Given the description of an element on the screen output the (x, y) to click on. 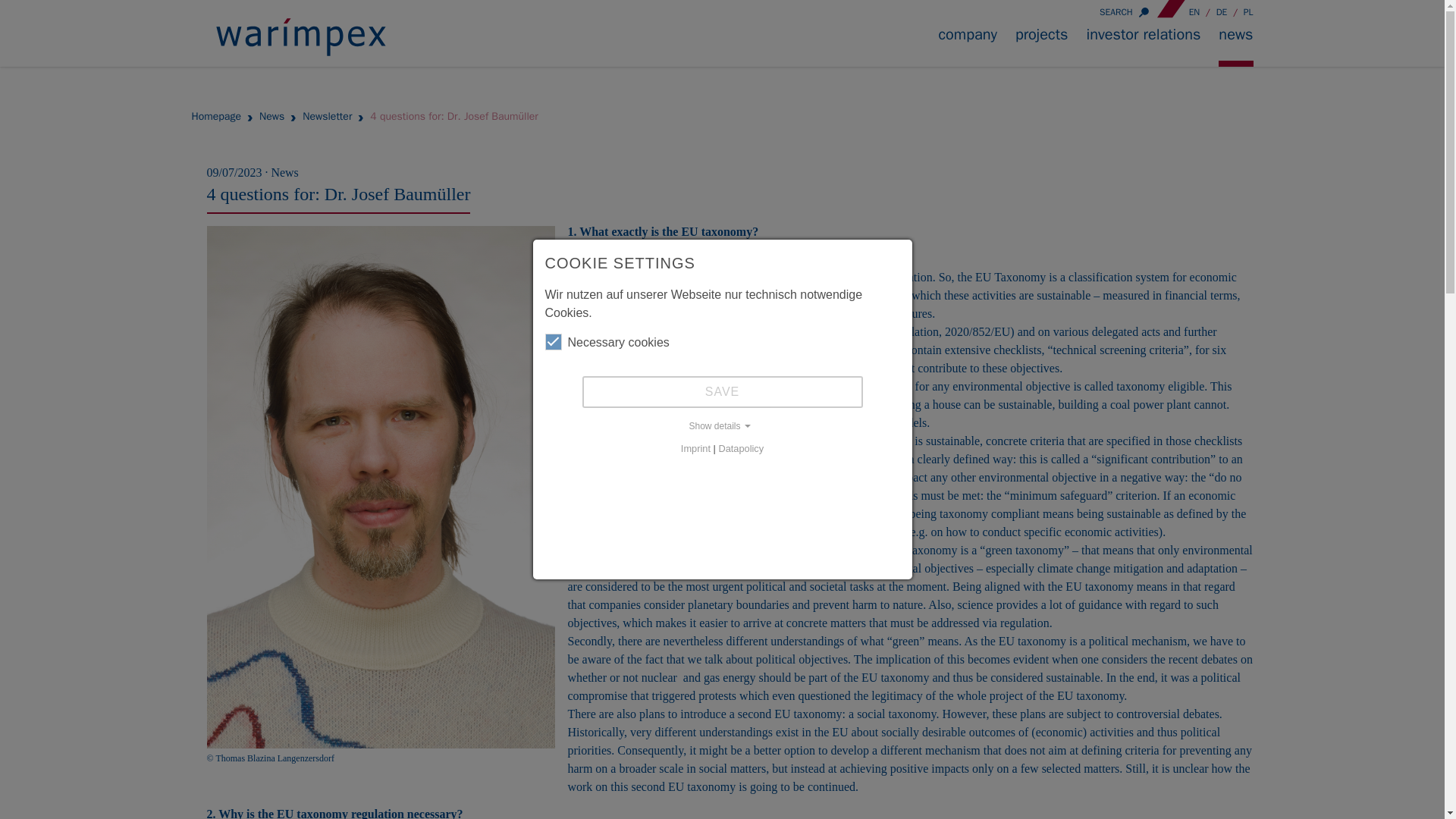
Newsletter (327, 116)
DE (1222, 11)
Company (967, 45)
Newsletter (327, 116)
company (967, 45)
Homepage (215, 116)
EN (1195, 11)
projects (1041, 45)
investor relations (1142, 45)
De (1222, 11)
Investor Relations (1142, 45)
News (271, 116)
News (271, 116)
Projects (1041, 45)
Homepage (215, 116)
